Given the description of an element on the screen output the (x, y) to click on. 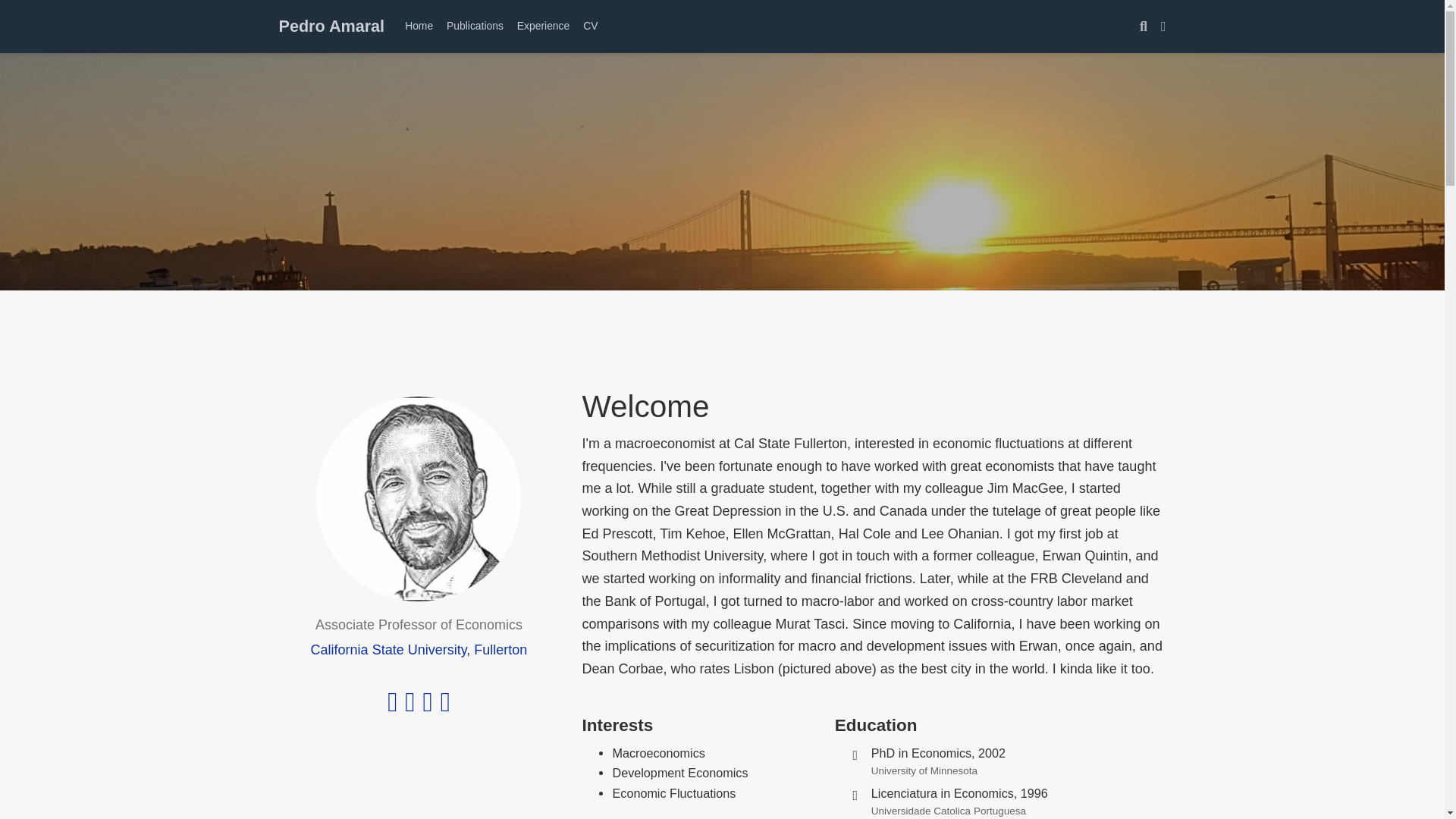
California State University, Fullerton (419, 649)
CV (590, 26)
Home (418, 26)
Publications (475, 26)
Pedro Amaral (332, 26)
Experience (543, 26)
